Given the description of an element on the screen output the (x, y) to click on. 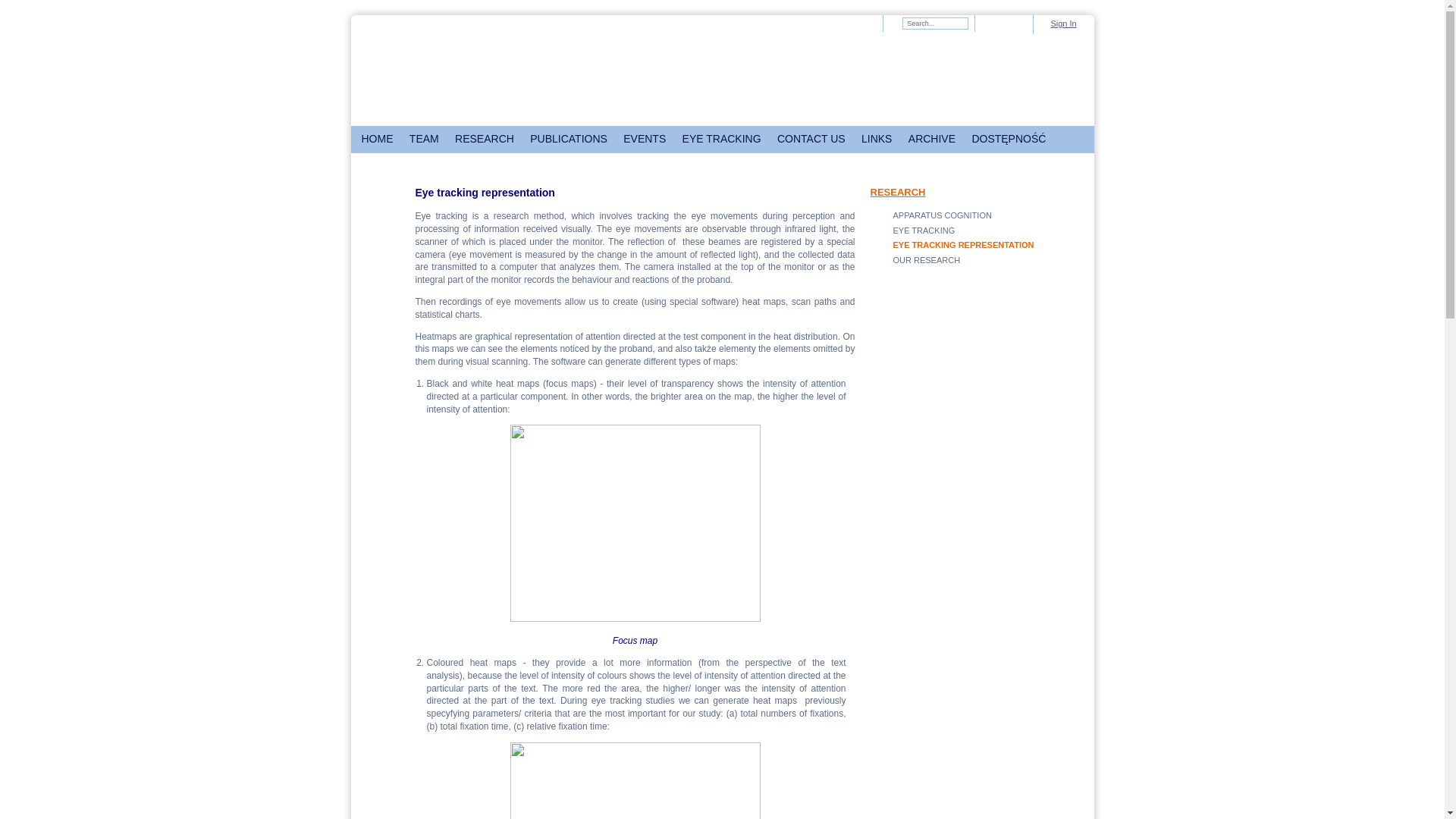
Sign In (1062, 22)
PUBLICATIONS (568, 139)
Search... (935, 23)
RESEARCH (483, 139)
EVENTS (644, 139)
EYE TRACKING (722, 139)
Go to Uniwersytet Warszawski (406, 76)
Search Web Content (935, 23)
HOME (376, 139)
TEAM (424, 139)
